Given the description of an element on the screen output the (x, y) to click on. 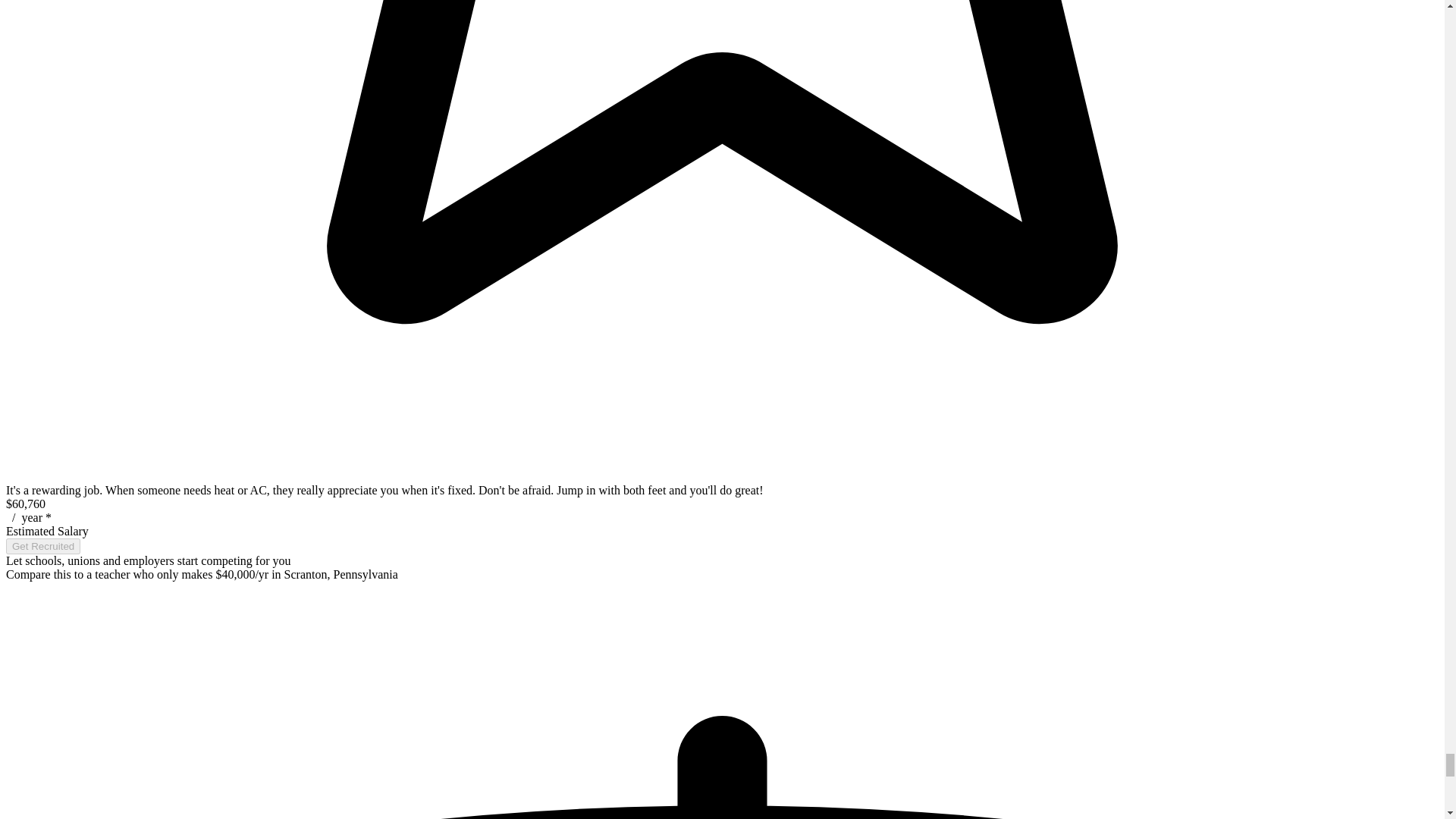
Get Recruited (42, 546)
